Given the description of an element on the screen output the (x, y) to click on. 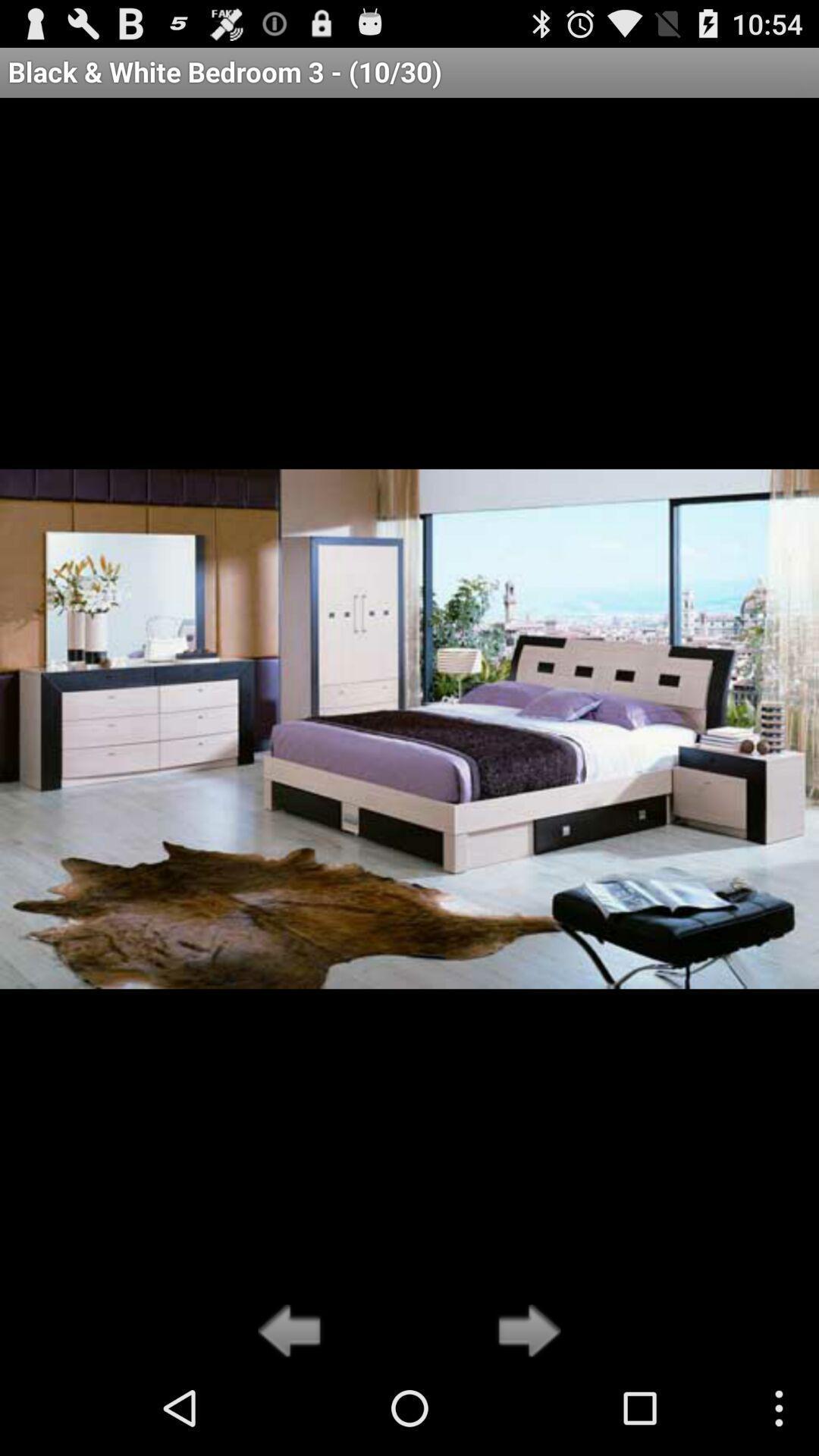
go back (293, 1332)
